Given the description of an element on the screen output the (x, y) to click on. 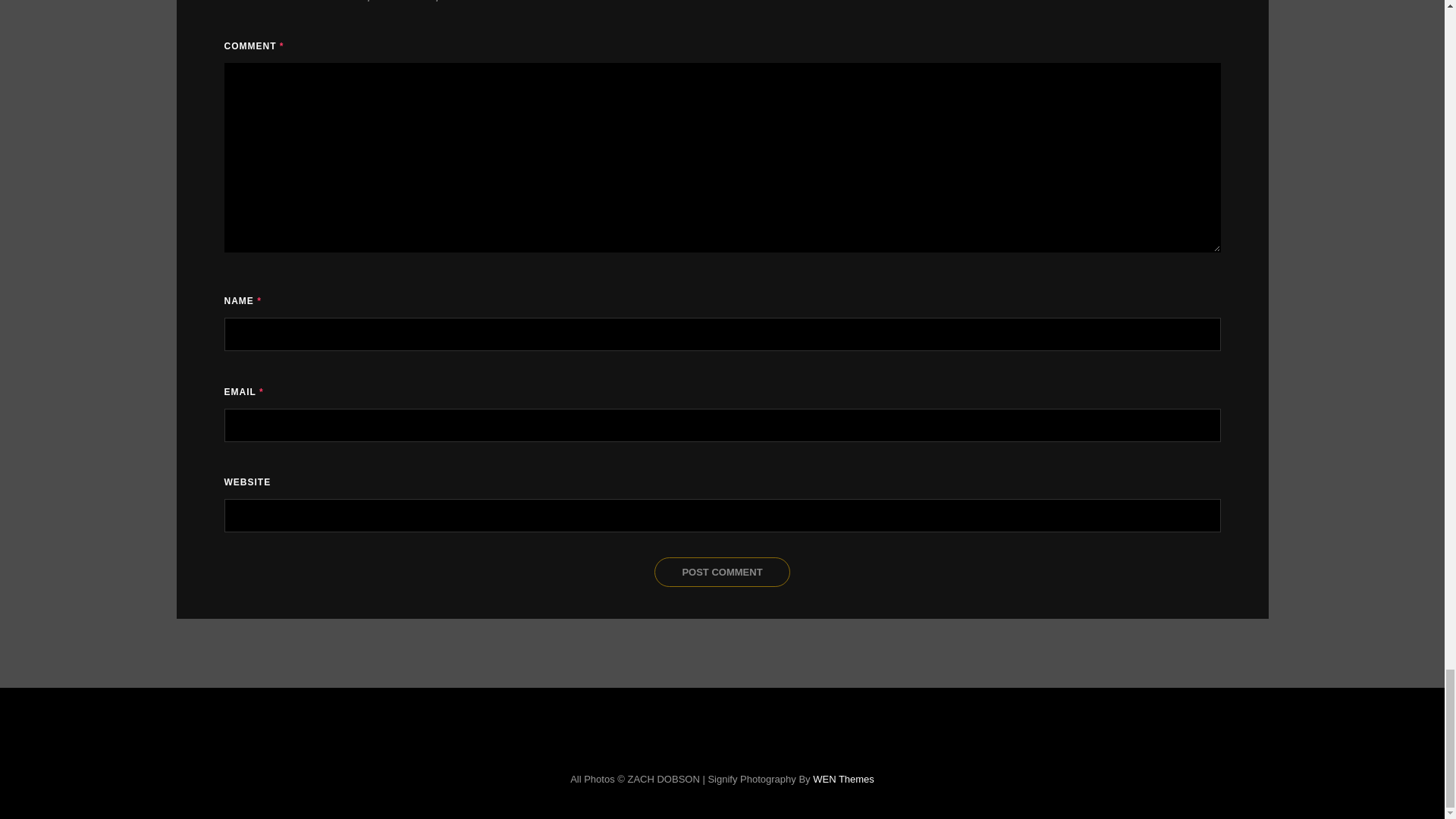
Post Comment (721, 572)
WEN Themes (843, 778)
Post Comment (721, 572)
